Given the description of an element on the screen output the (x, y) to click on. 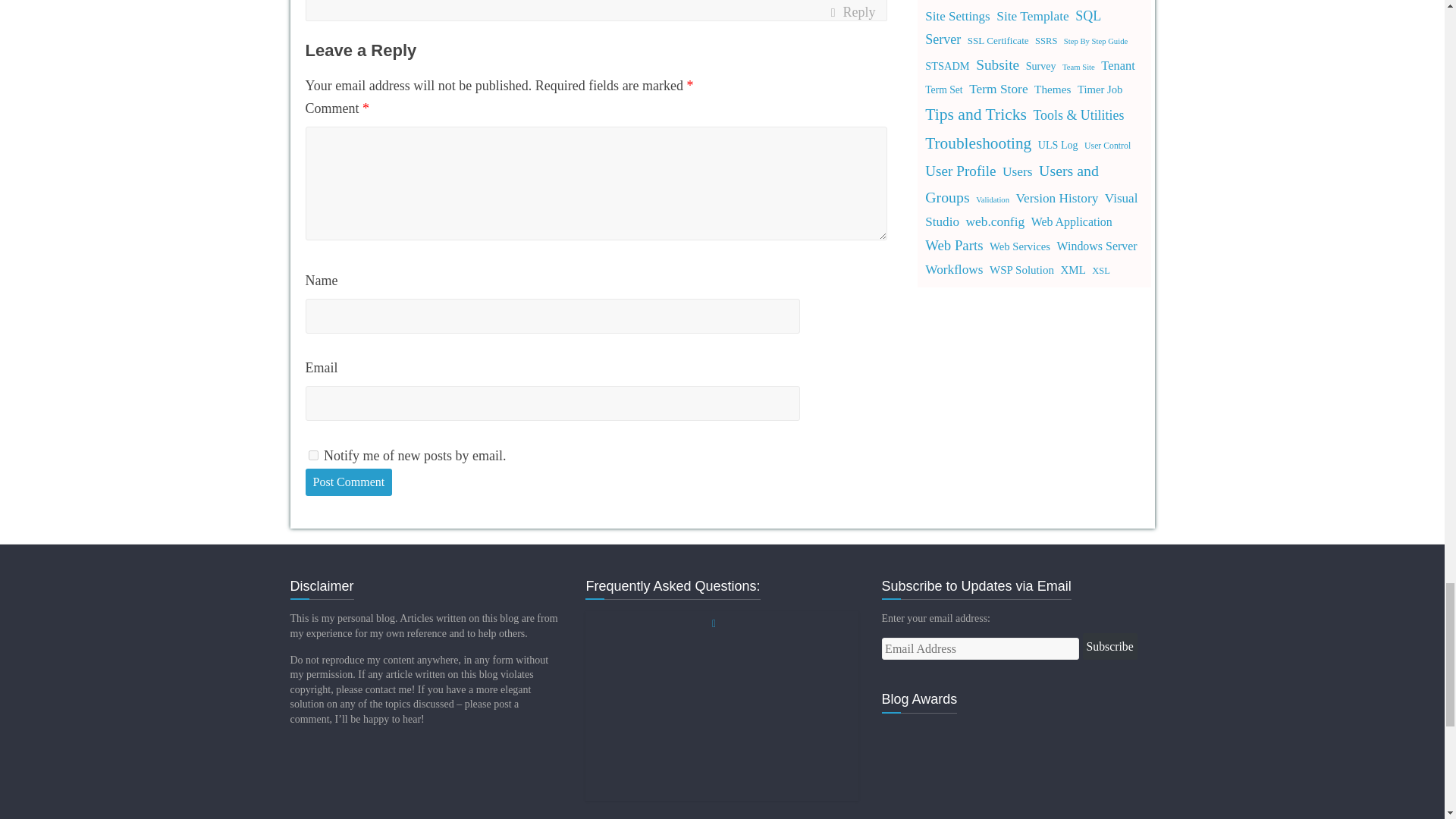
subscribe (312, 455)
Post Comment (347, 482)
